Given the description of an element on the screen output the (x, y) to click on. 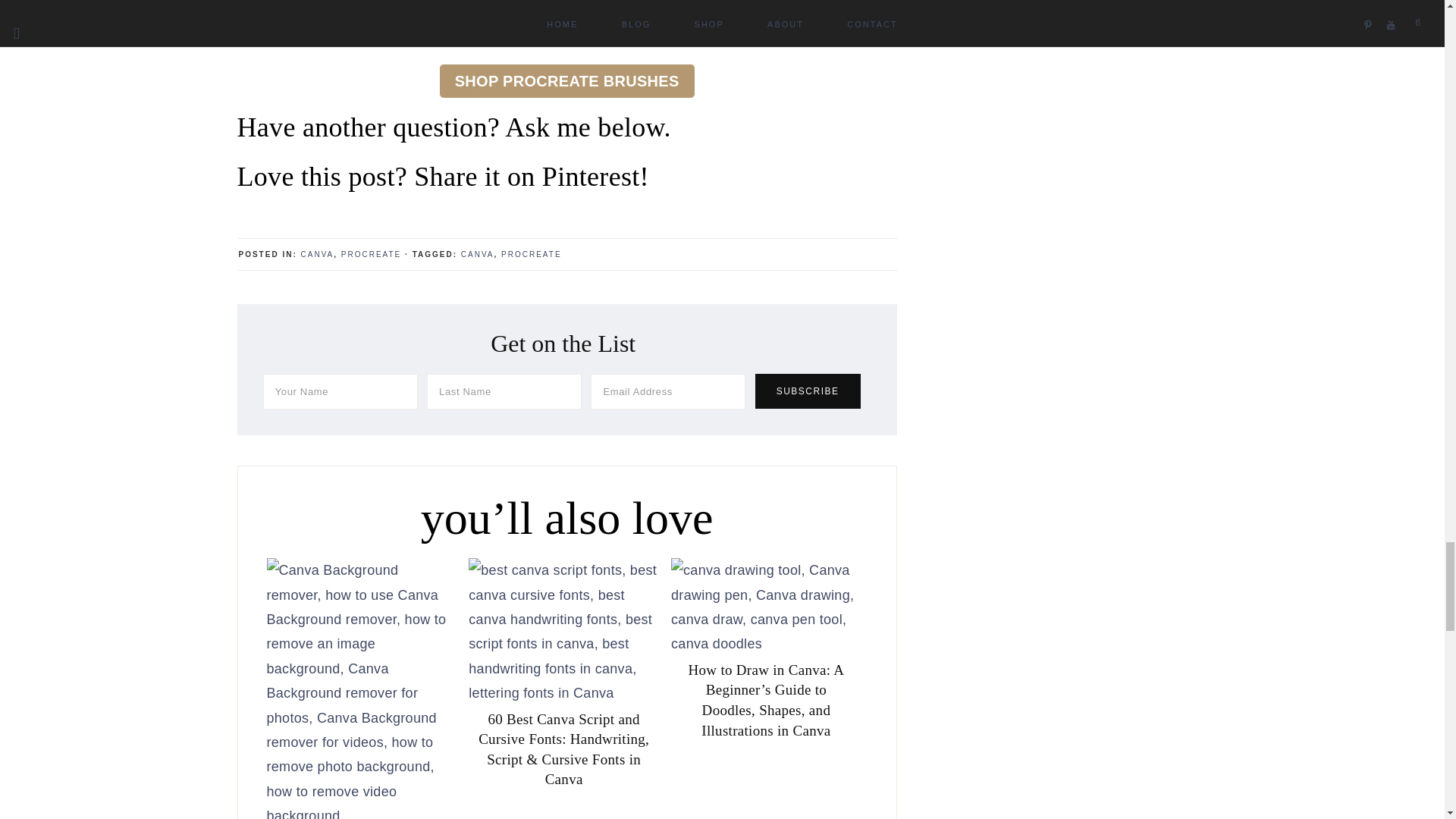
Subscribe (807, 390)
